Given the description of an element on the screen output the (x, y) to click on. 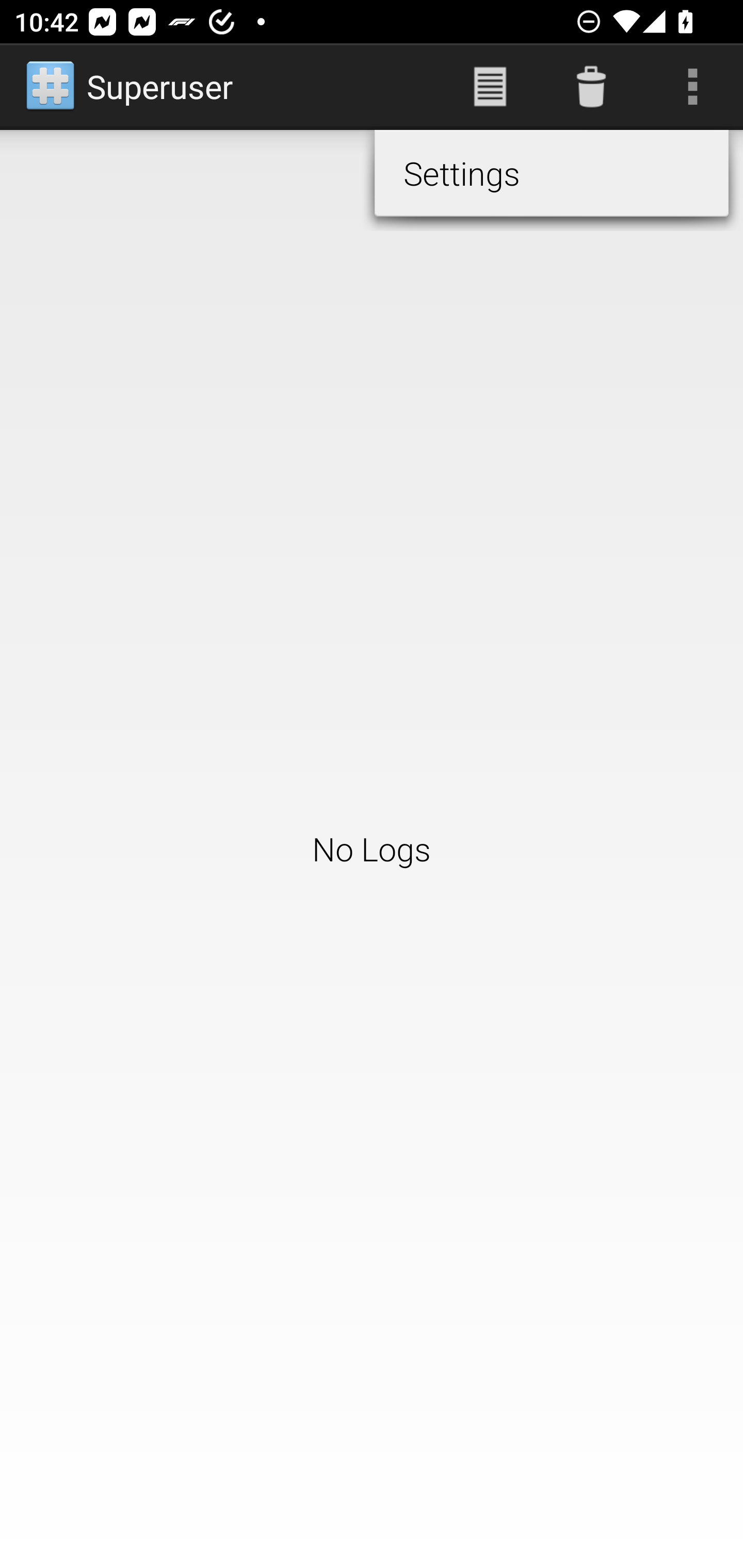
Settings (551, 173)
